Given the description of an element on the screen output the (x, y) to click on. 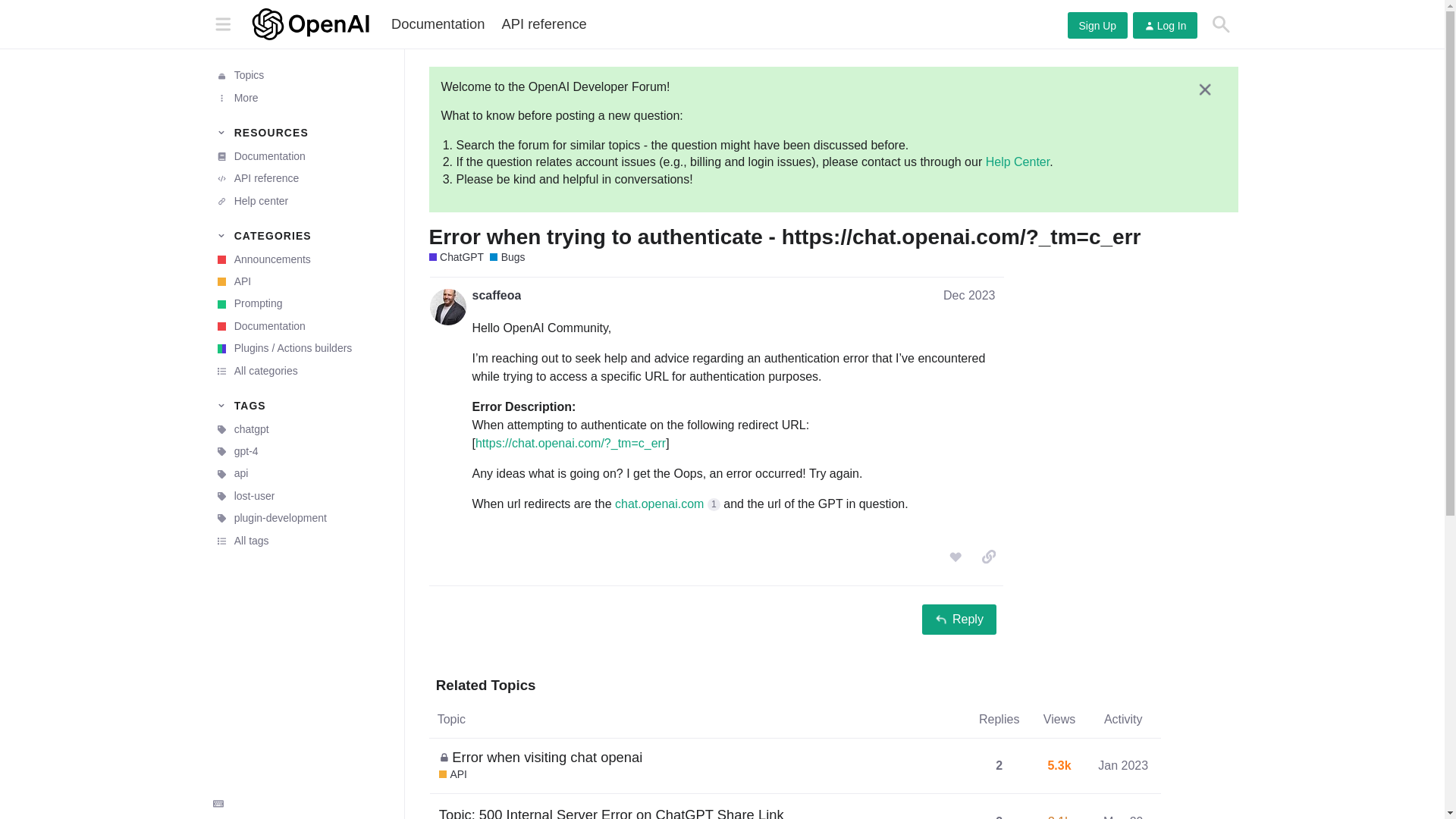
Topics (301, 75)
Announcements (301, 259)
Documentation (437, 23)
plugin-development (301, 517)
Sidebar (222, 23)
More (301, 97)
Search (1220, 23)
Documentation (301, 156)
API (301, 281)
lost-user (301, 495)
Bugs (506, 257)
ChatGPT (456, 257)
Log In (1164, 25)
